Given the description of an element on the screen output the (x, y) to click on. 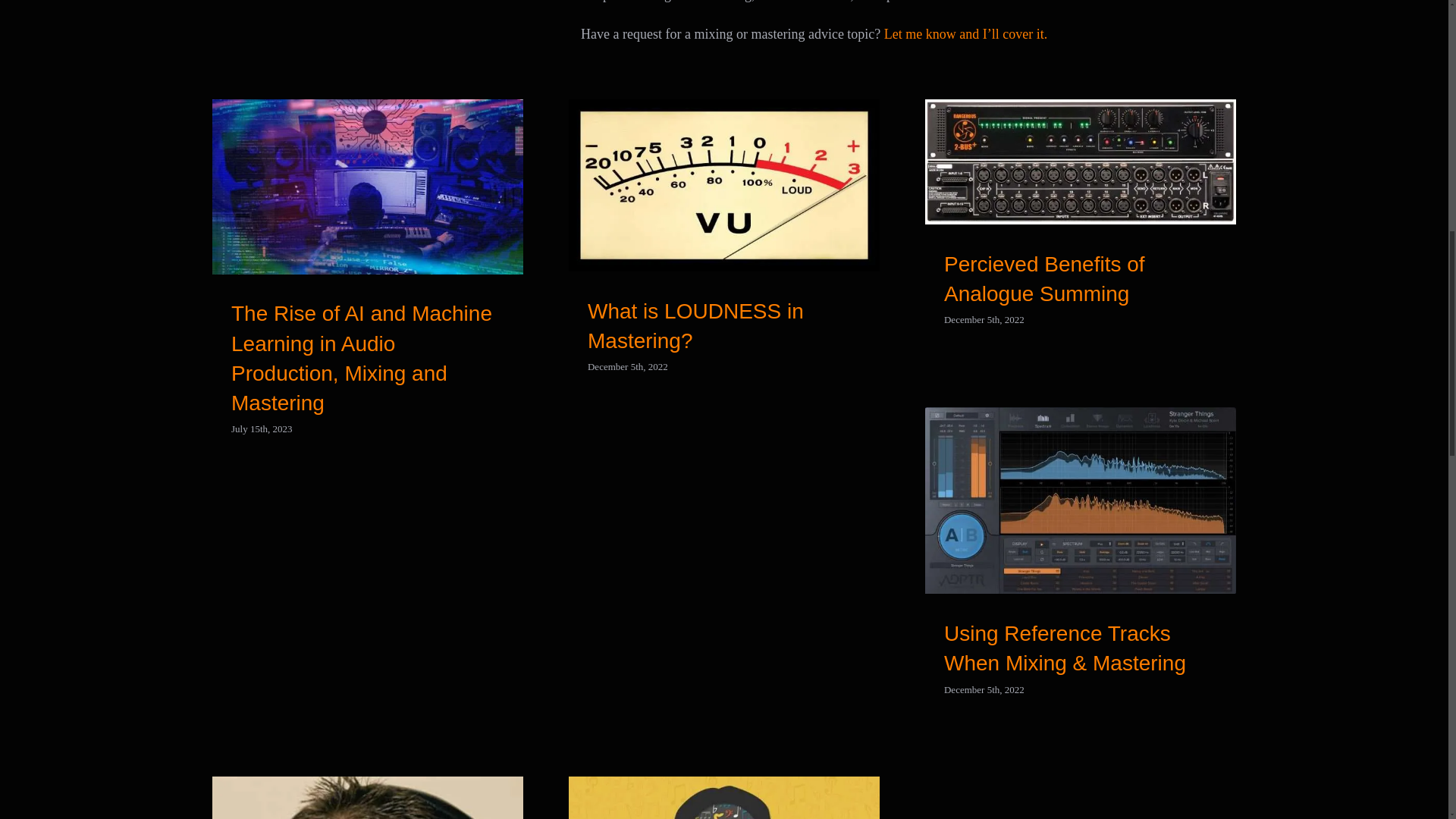
What is LOUDNESS in Mastering? (695, 325)
Percieved Benefits of Analogue Summing (1043, 278)
